Given the description of an element on the screen output the (x, y) to click on. 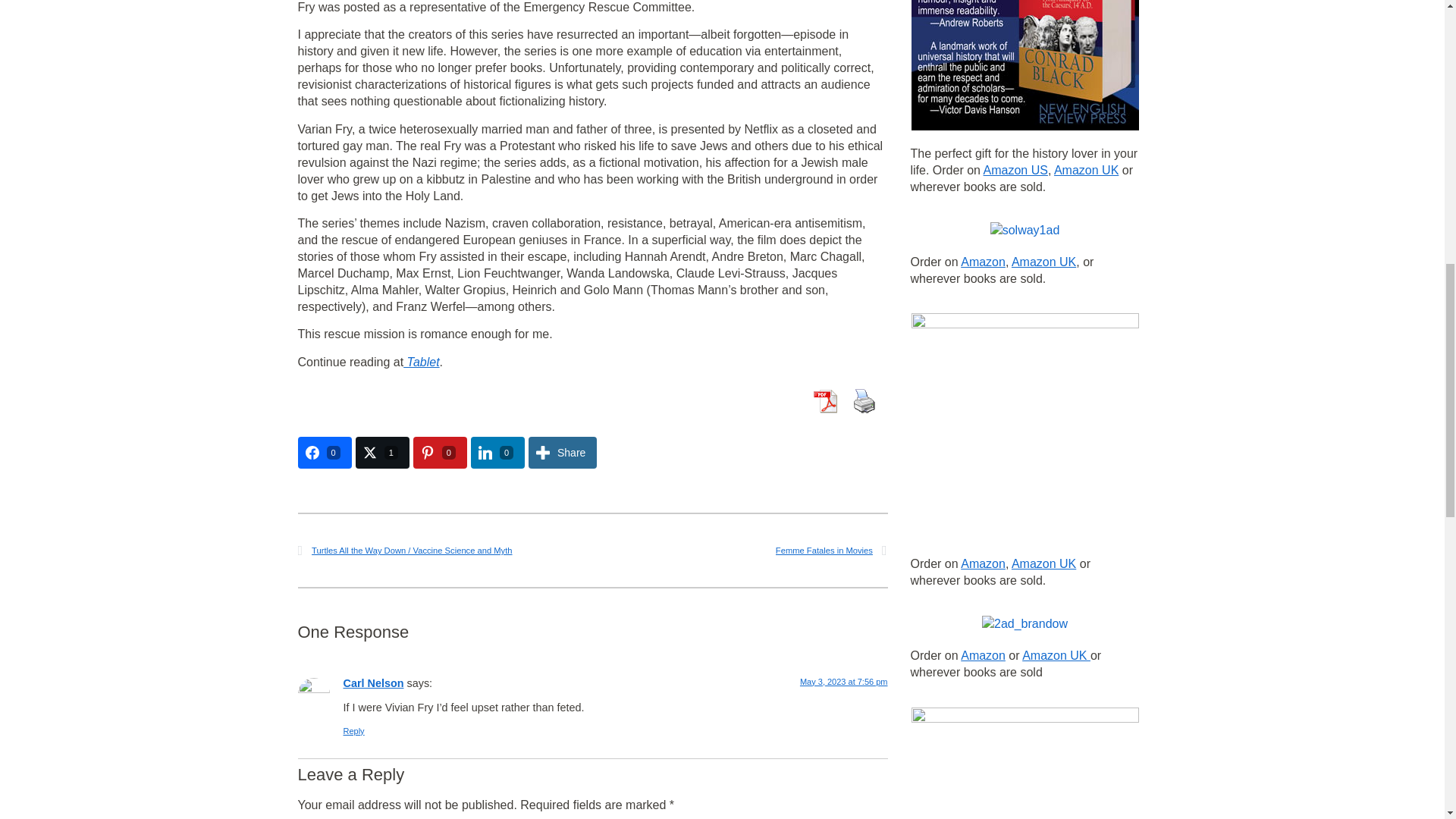
View PDF (824, 400)
Tablet (421, 361)
0 (440, 452)
Share on Facebook (323, 452)
Share on Share (562, 452)
Share on Pinterest (440, 452)
Share on Twitter (382, 452)
1 (382, 452)
Share on LinkedIn (497, 452)
Print Content (863, 400)
0 (323, 452)
0 (497, 452)
